Given the description of an element on the screen output the (x, y) to click on. 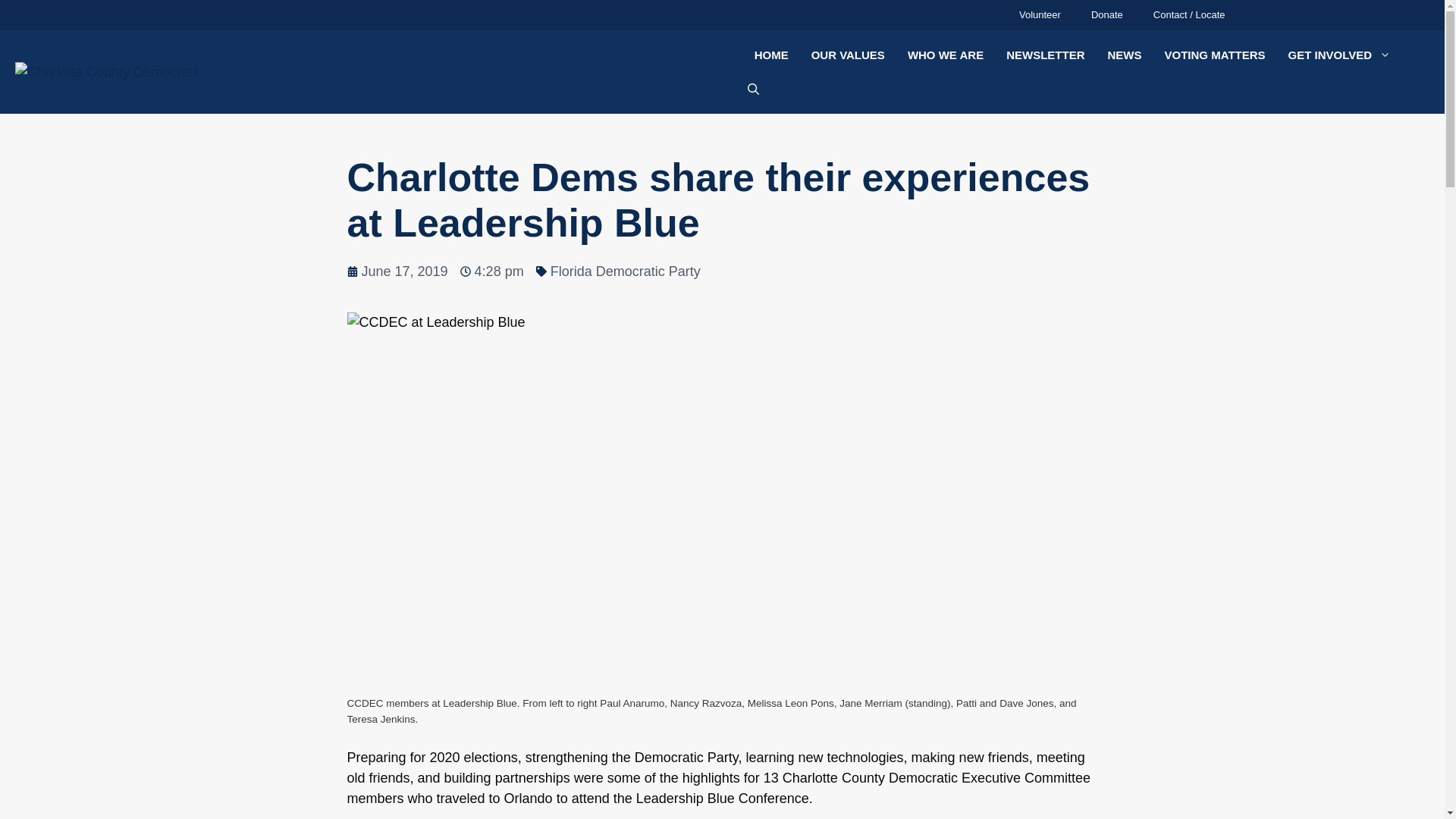
Donate (1106, 15)
Florida Democratic Party (625, 271)
VOTING MATTERS (1214, 54)
WHO WE ARE (945, 54)
NEWS (1124, 54)
GET INVOLVED (1339, 54)
HOME (770, 54)
OUR VALUES (847, 54)
Volunteer (1039, 15)
NEWSLETTER (1045, 54)
June 17, 2019 (397, 271)
